Given the description of an element on the screen output the (x, y) to click on. 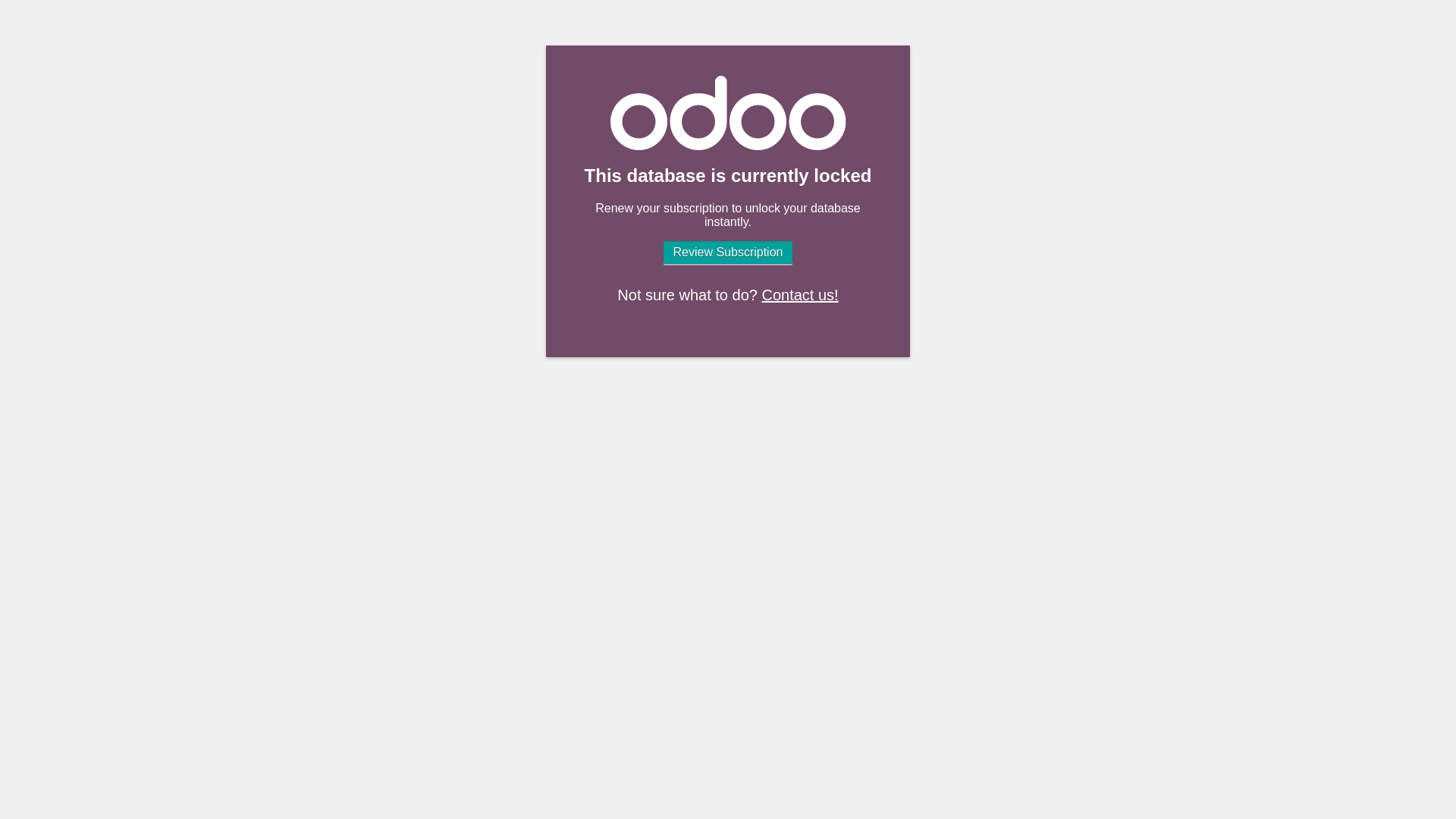
Contact us! (799, 294)
Review Subscription (728, 251)
